Given the description of an element on the screen output the (x, y) to click on. 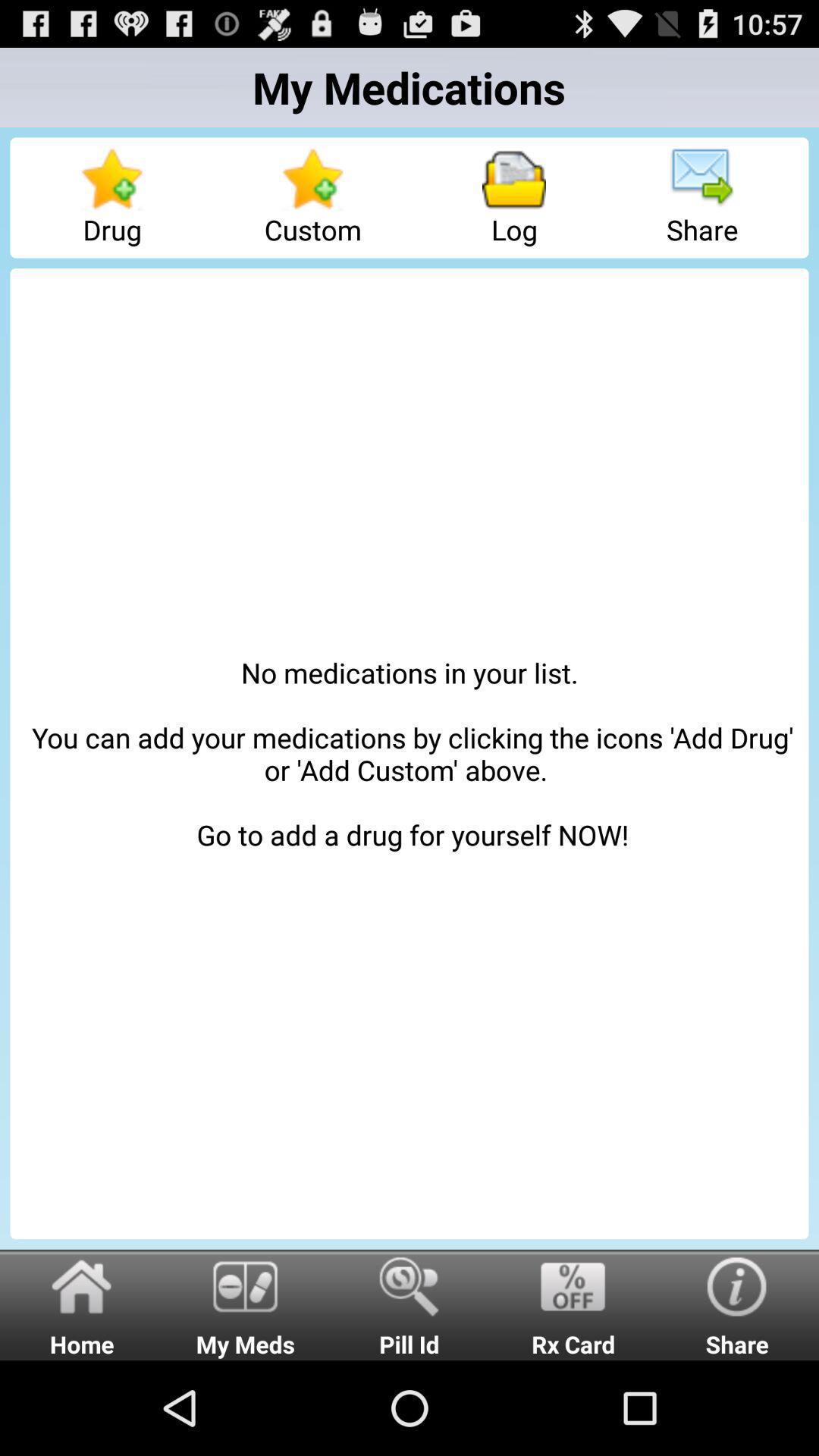
choose item below the no medications in item (245, 1304)
